Given the description of an element on the screen output the (x, y) to click on. 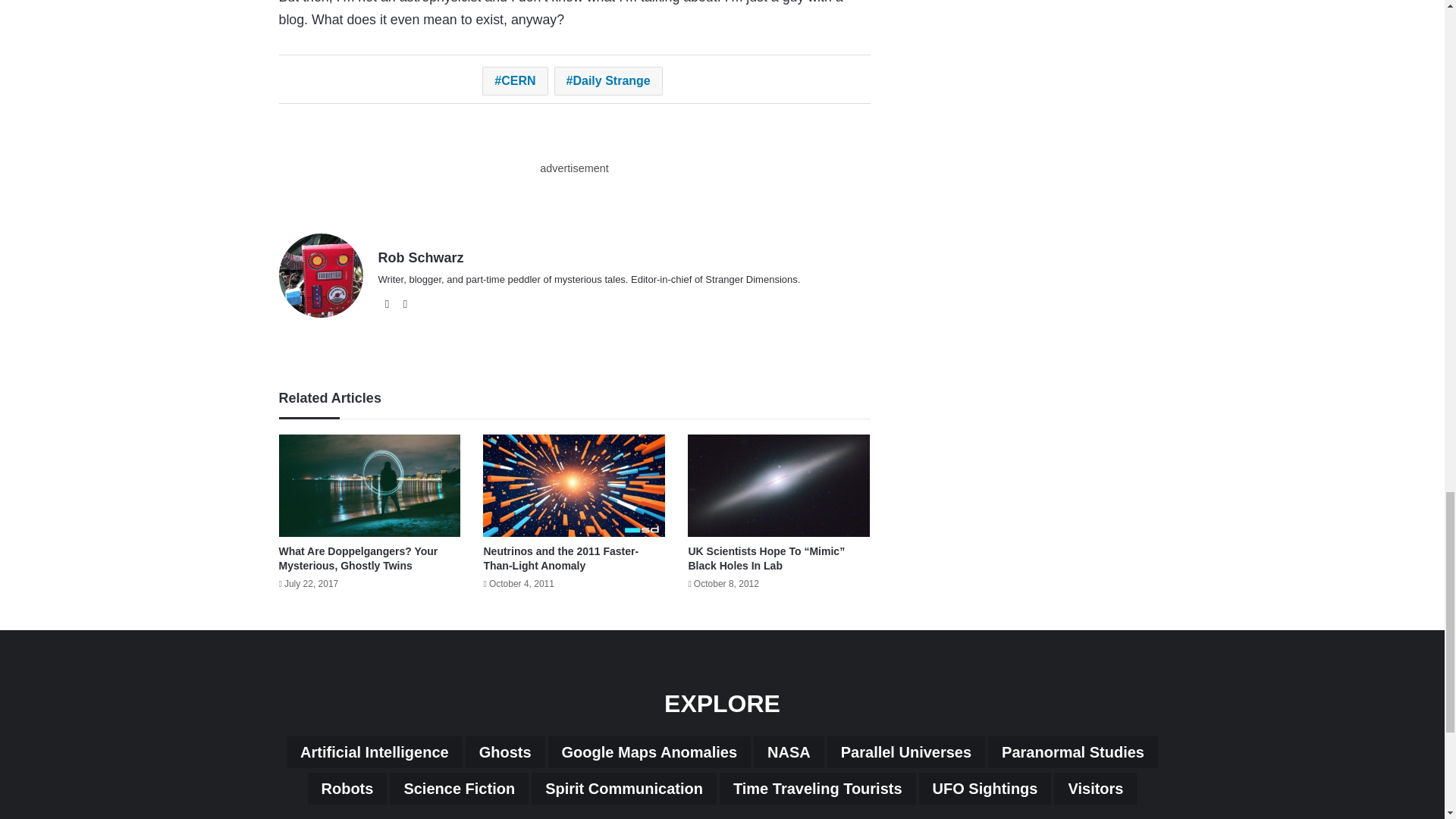
Rob Schwarz (420, 257)
Neutrinos and the 2011 Faster-Than-Light Anomaly (561, 558)
What Are Doppelgangers? Your Mysterious, Ghostly Twins (358, 558)
Website (386, 303)
Daily Strange (608, 80)
CERN (514, 80)
X (404, 303)
